Given the description of an element on the screen output the (x, y) to click on. 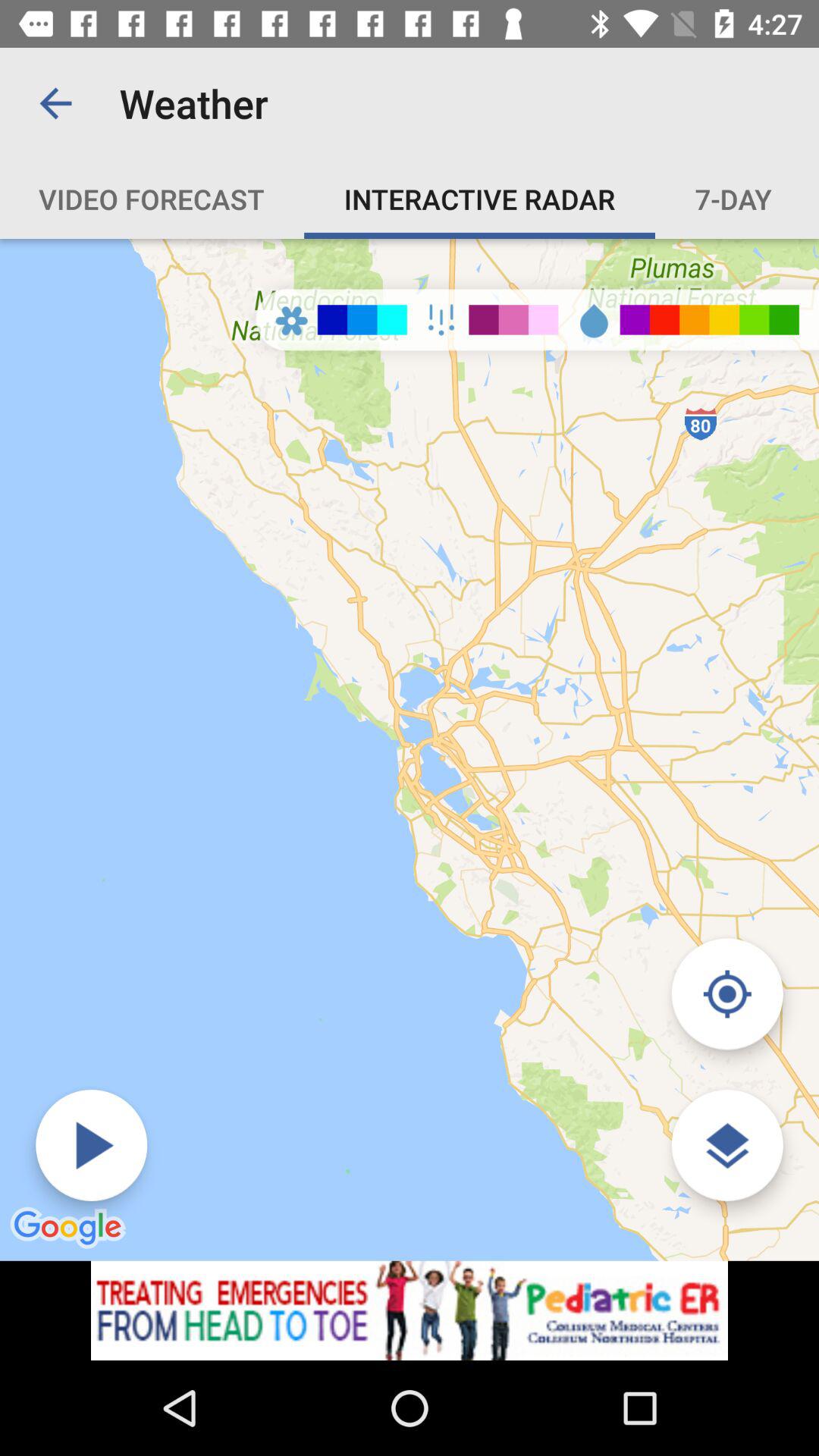
go to play (91, 1145)
